Given the description of an element on the screen output the (x, y) to click on. 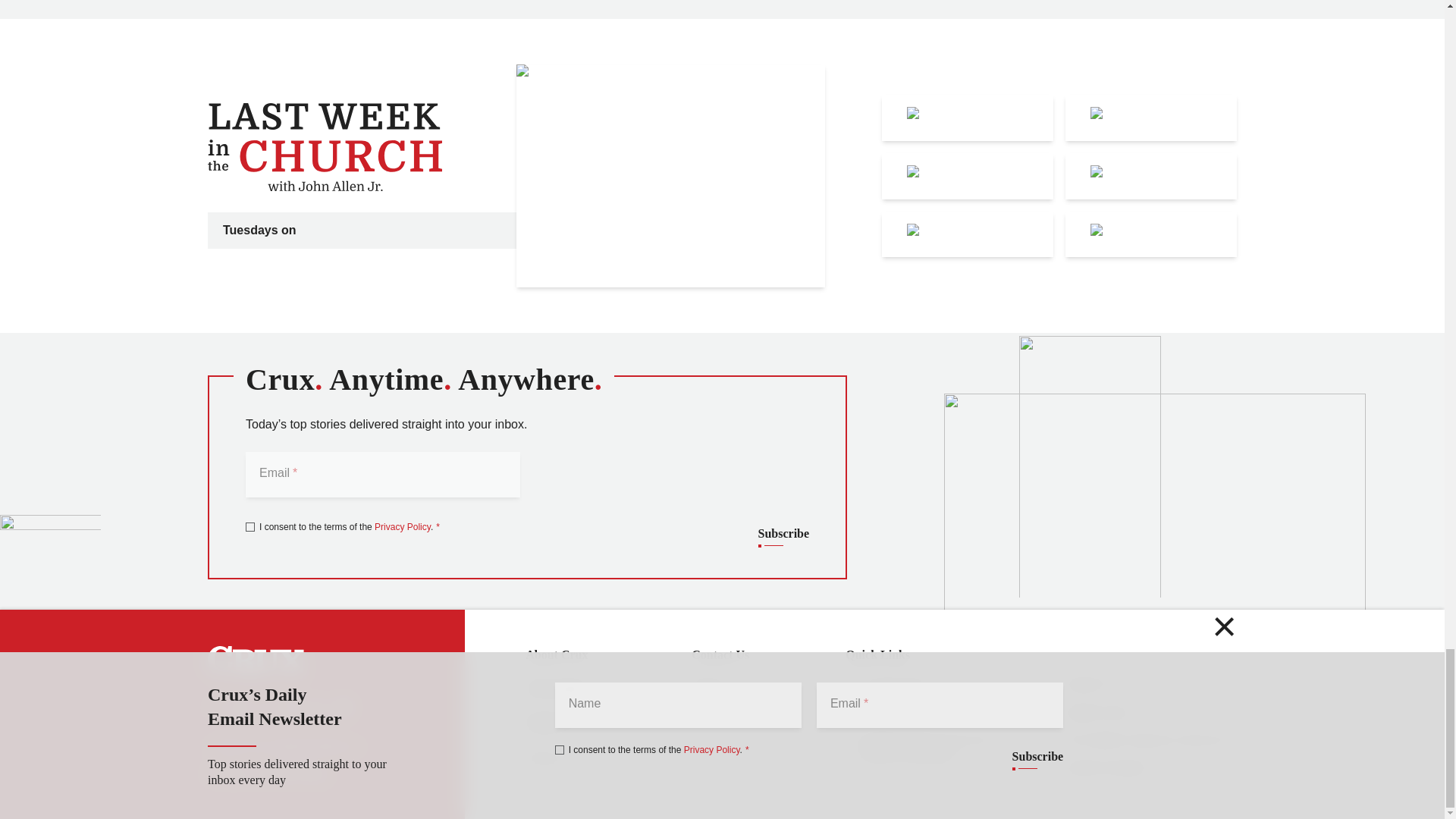
true (250, 526)
